Given the description of an element on the screen output the (x, y) to click on. 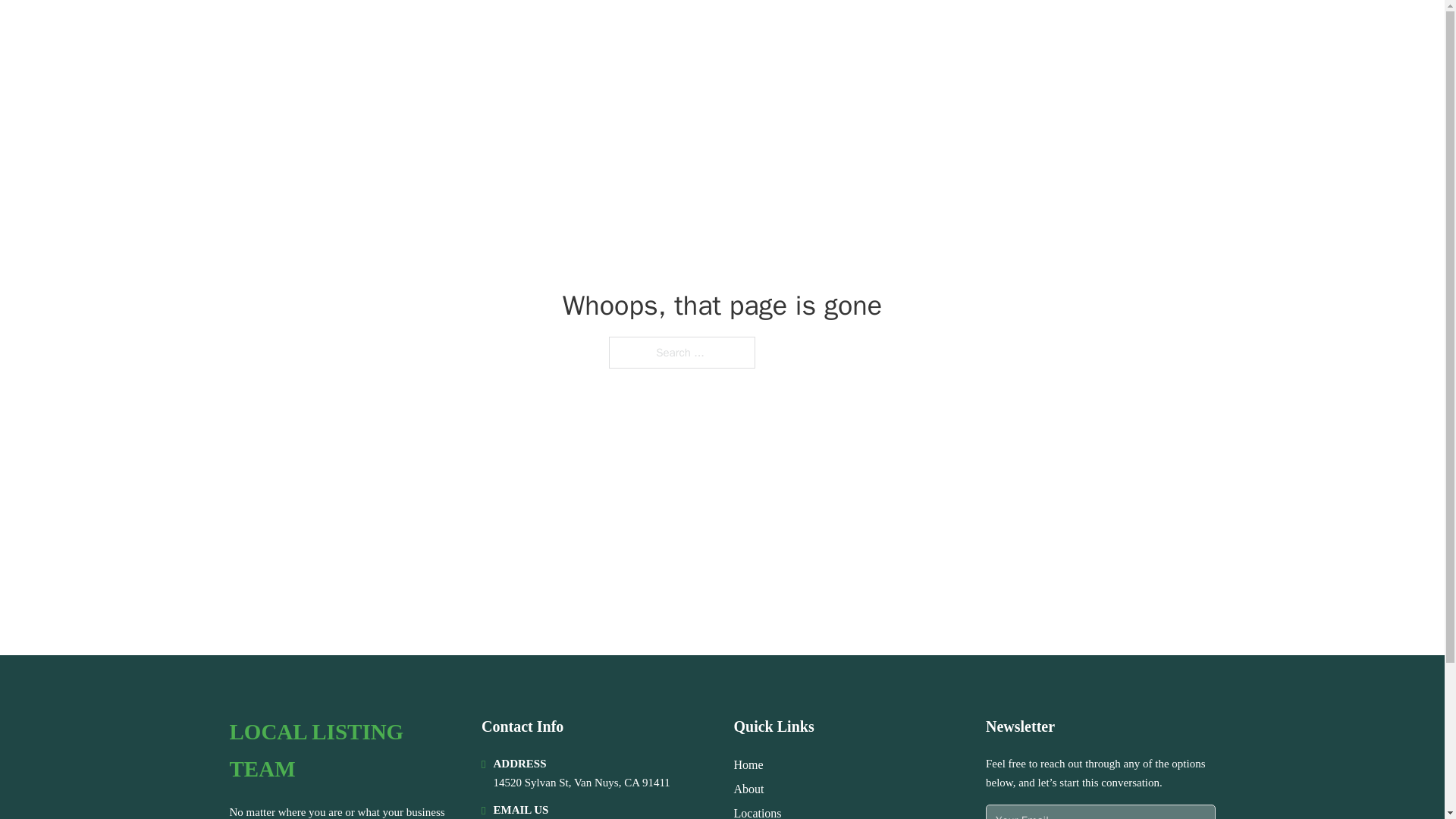
About (748, 788)
LOCAL LISTING TEAM (343, 750)
Home (747, 764)
LOCATIONS (1098, 31)
HOME (1025, 31)
Locations (757, 811)
LOCAL LISTING TEAM (363, 31)
